Given the description of an element on the screen output the (x, y) to click on. 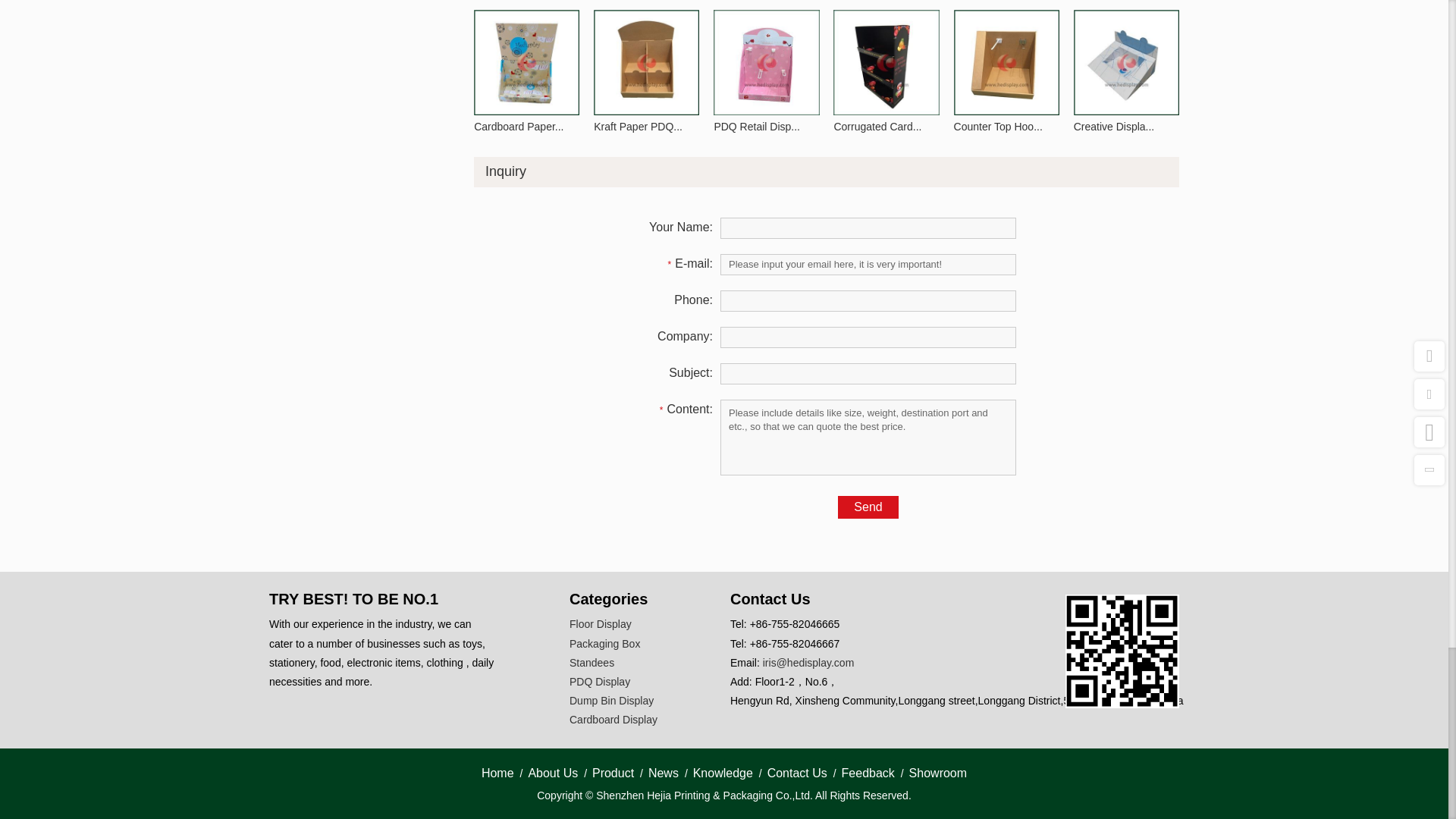
Send (868, 507)
